Given the description of an element on the screen output the (x, y) to click on. 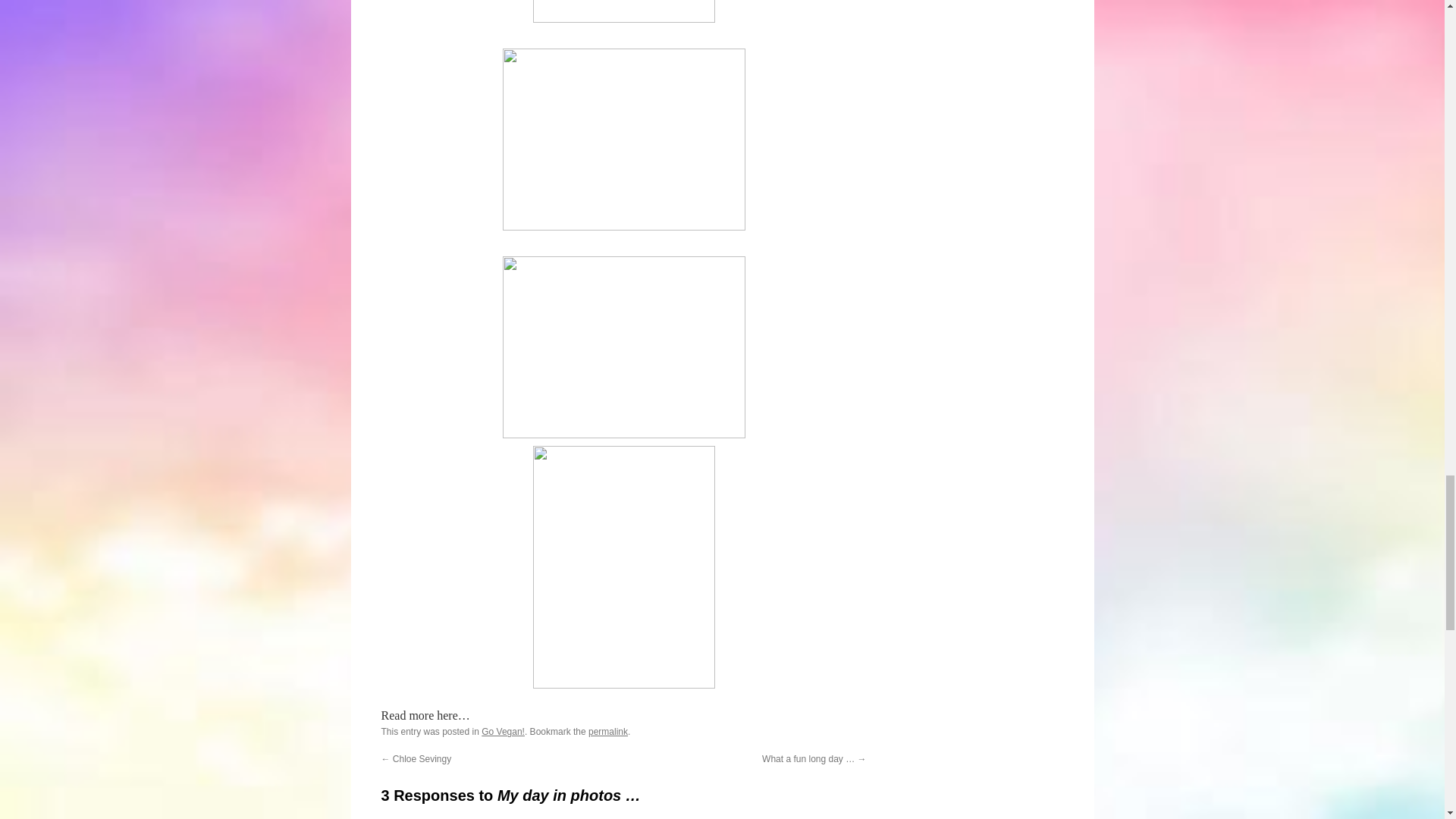
permalink (607, 731)
Go Vegan! (502, 731)
